Given the description of an element on the screen output the (x, y) to click on. 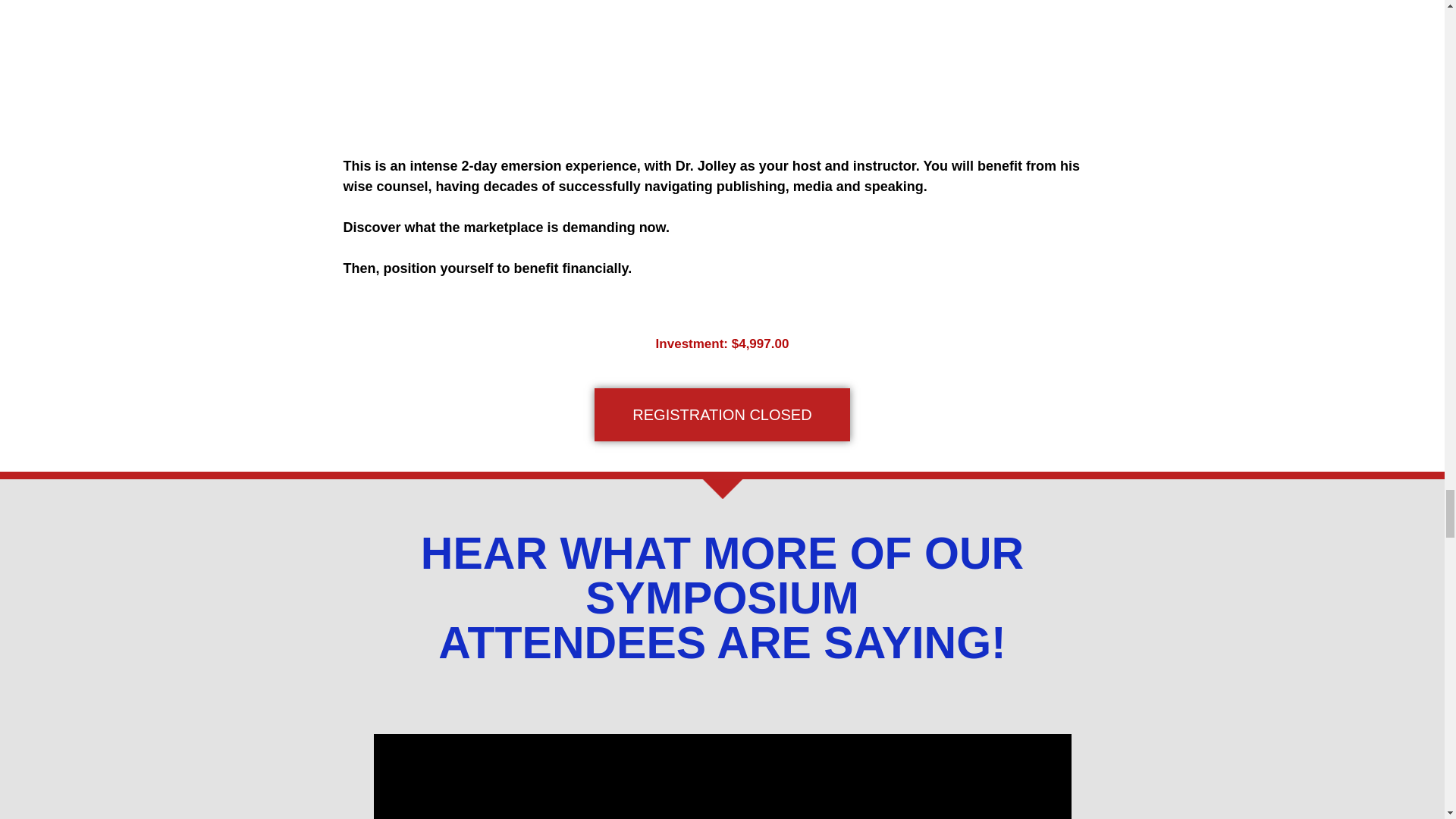
REGISTRATION CLOSED (721, 414)
vimeo Video Player (721, 776)
